Given the description of an element on the screen output the (x, y) to click on. 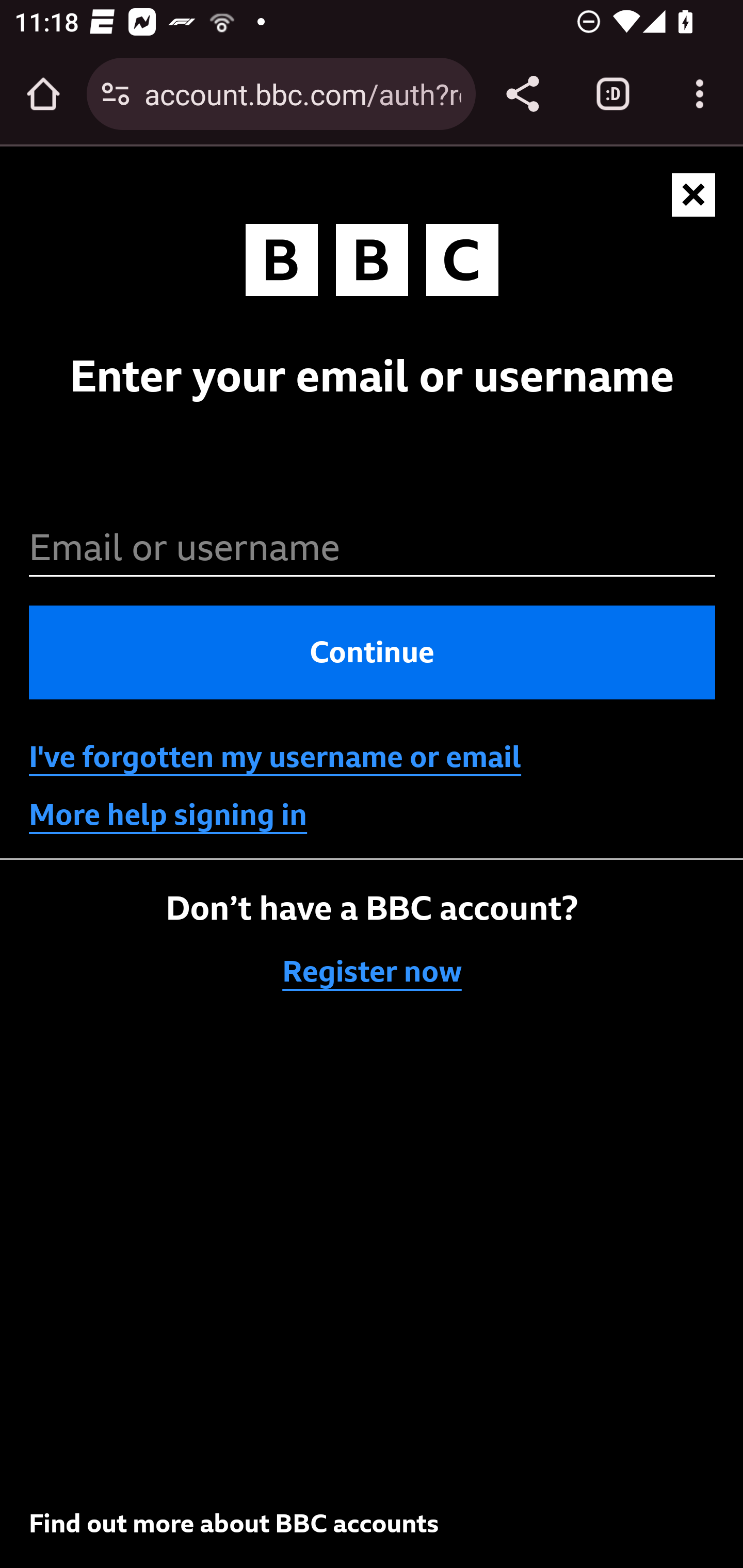
Open the home page (43, 93)
Connection is secure (115, 93)
Share (522, 93)
Switch or close tabs (612, 93)
Customize and control Google Chrome (699, 93)
Close and return to where you originally came from (694, 195)
Continue (372, 652)
I've forgotten my username or email (274, 757)
More help signing in (168, 815)
Register now (372, 971)
Find out more about BBC accounts (234, 1522)
